Given the description of an element on the screen output the (x, y) to click on. 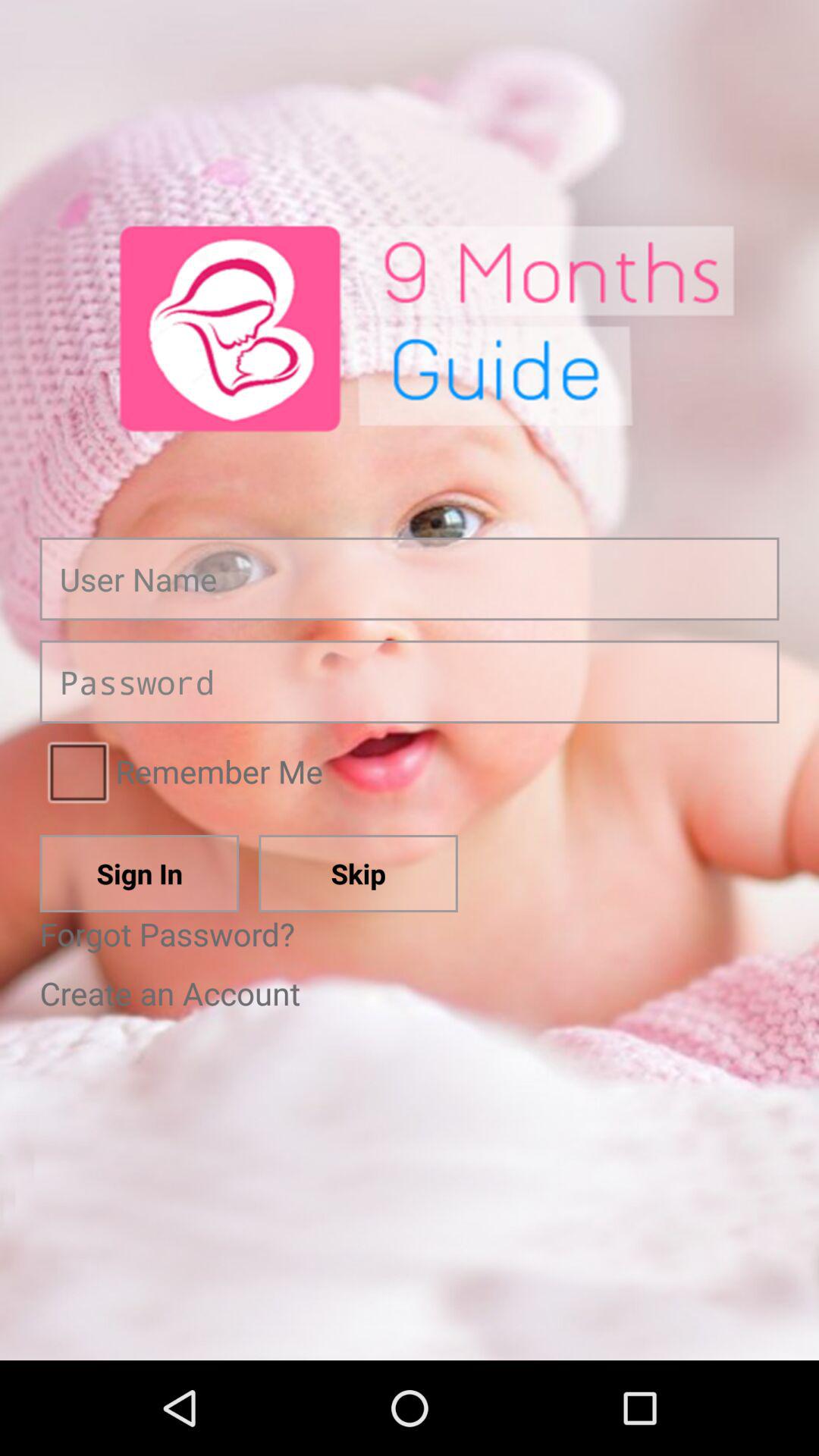
text box to enter (409, 578)
